Given the description of an element on the screen output the (x, y) to click on. 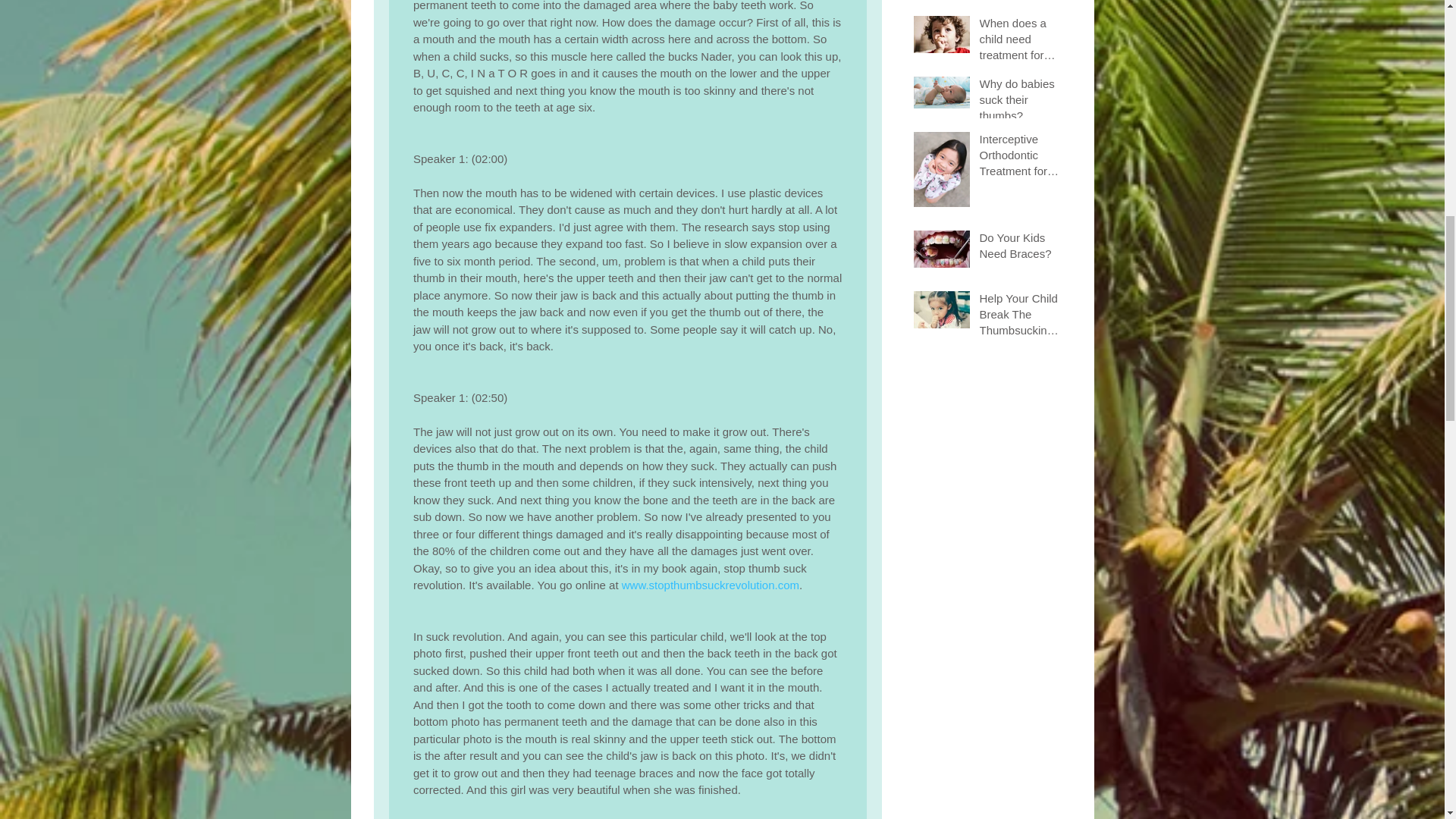
Why do babies suck their thumbs? (1020, 102)
Help Your Child Break The Thumbsucking Habit (1020, 316)
www.stopthumbsuckrevolution.com (709, 584)
When does a child need treatment for thumb-sucking? (1020, 41)
Do Your Kids Need Braces? (1020, 248)
Negative effects of thumb sucking (1020, 2)
